Given the description of an element on the screen output the (x, y) to click on. 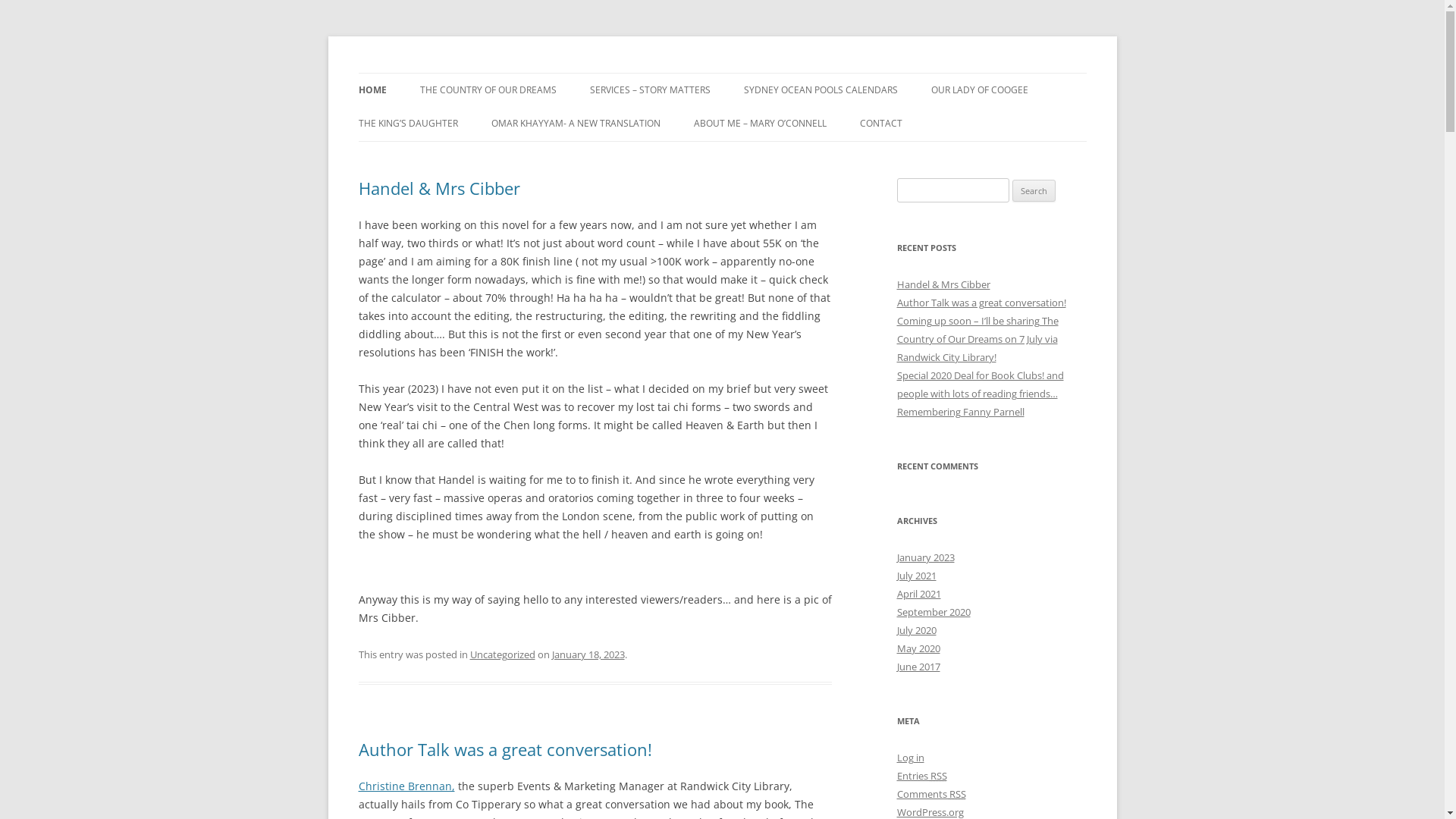
CONTACT Element type: text (880, 123)
September 2020 Element type: text (932, 611)
Author Talk was a great conversation! Element type: text (980, 302)
Log in Element type: text (909, 757)
Handel & Mrs Cibber Element type: text (942, 284)
Mary O'Connell Element type: text (433, 72)
Entries RSS Element type: text (921, 775)
Christine Brennan, Element type: text (405, 785)
Author Talk was a great conversation! Element type: text (504, 748)
Search Element type: text (1033, 190)
January 18, 2023 Element type: text (588, 654)
May 2020 Element type: text (917, 648)
July 2021 Element type: text (915, 575)
OUR LADY OF COOGEE Element type: text (979, 89)
THE COUNTRY OF OUR DREAMS Element type: text (488, 89)
Handel & Mrs Cibber Element type: text (438, 187)
Skip to content Element type: text (759, 77)
Uncategorized Element type: text (502, 654)
HOME Element type: text (371, 89)
June 2017 Element type: text (917, 666)
Comments RSS Element type: text (930, 793)
July 2020 Element type: text (915, 630)
January 2023 Element type: text (924, 557)
SYDNEY OCEAN POOLS CALENDARS Element type: text (820, 89)
OMAR KHAYYAM- A NEW TRANSLATION Element type: text (575, 123)
April 2021 Element type: text (918, 593)
Remembering Fanny Parnell Element type: text (959, 411)
